Given the description of an element on the screen output the (x, y) to click on. 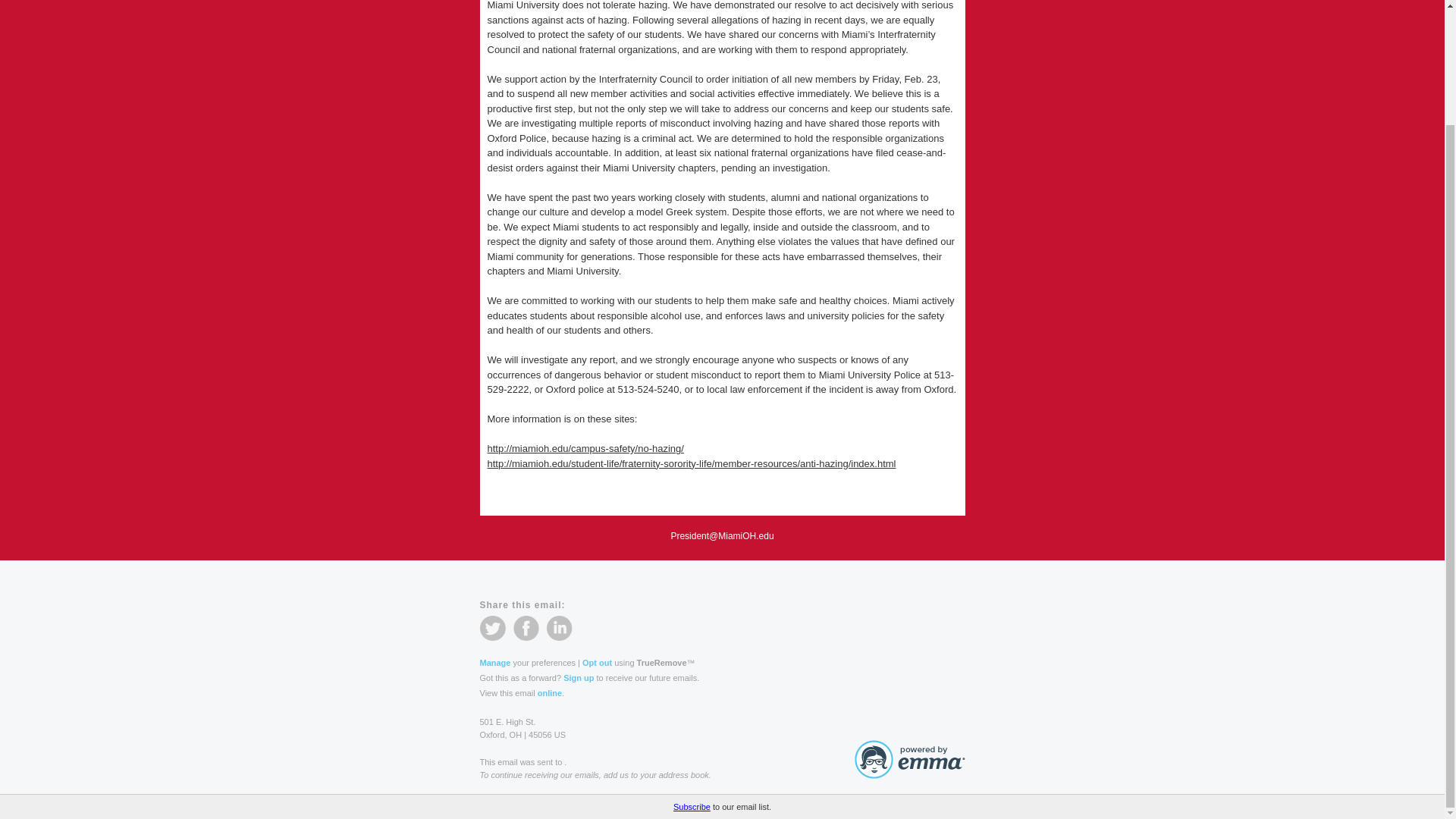
Sign up (578, 677)
Manage (495, 662)
Opt out (596, 662)
online (549, 692)
Subscribe (691, 669)
